Given the description of an element on the screen output the (x, y) to click on. 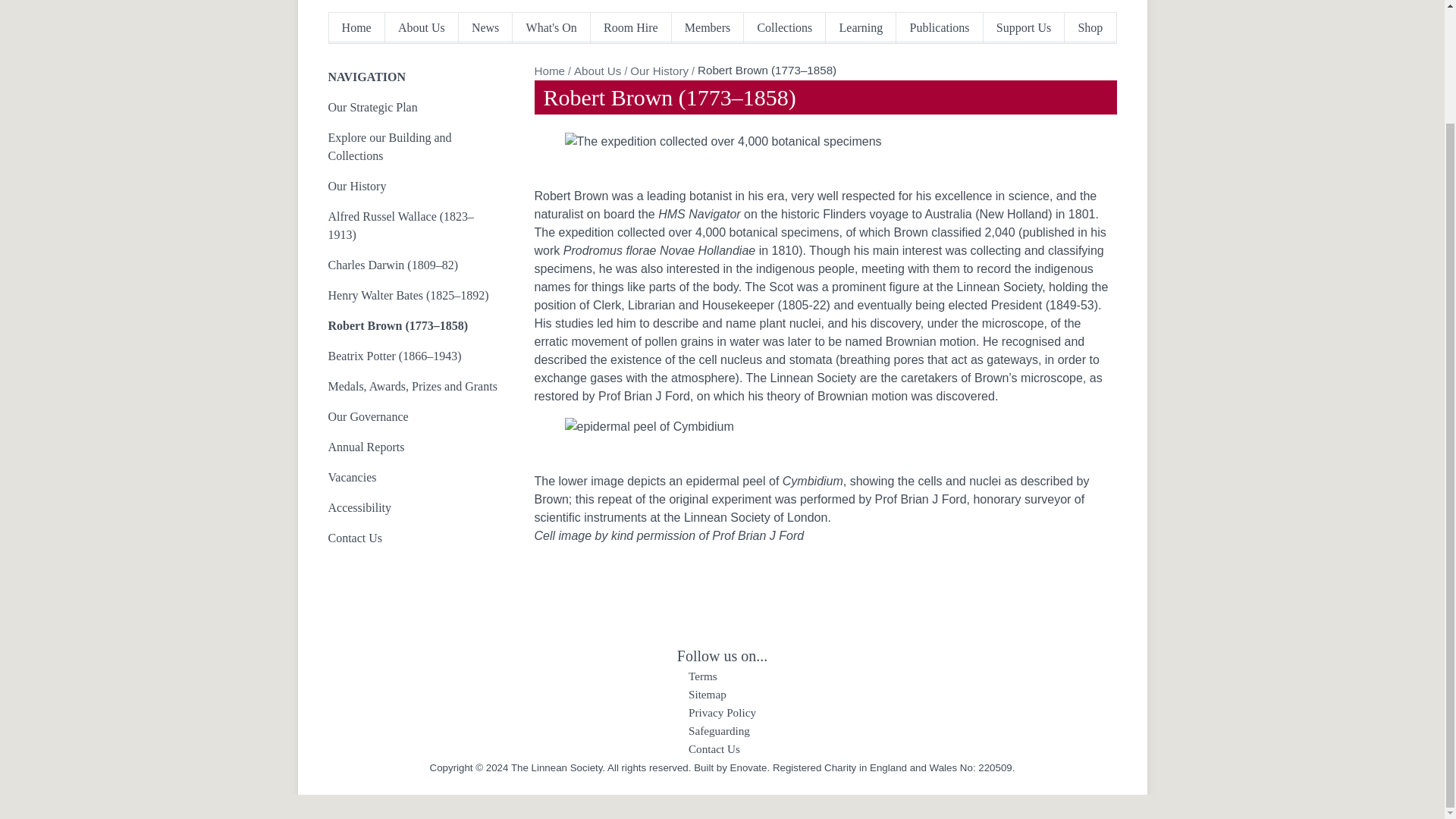
Sitemap (707, 694)
About Us (597, 70)
Our History (659, 70)
Publications (939, 28)
Terms (702, 675)
Annual Reports (412, 447)
Shop (1089, 28)
Our Strategic Plan (412, 107)
Our Governance (412, 417)
Learning (860, 28)
Explore our Building and Collections (412, 146)
Medals, Awards, Prizes and Grants (412, 386)
Support Us (1024, 28)
Room Hire (631, 28)
About Us (421, 28)
